Given the description of an element on the screen output the (x, y) to click on. 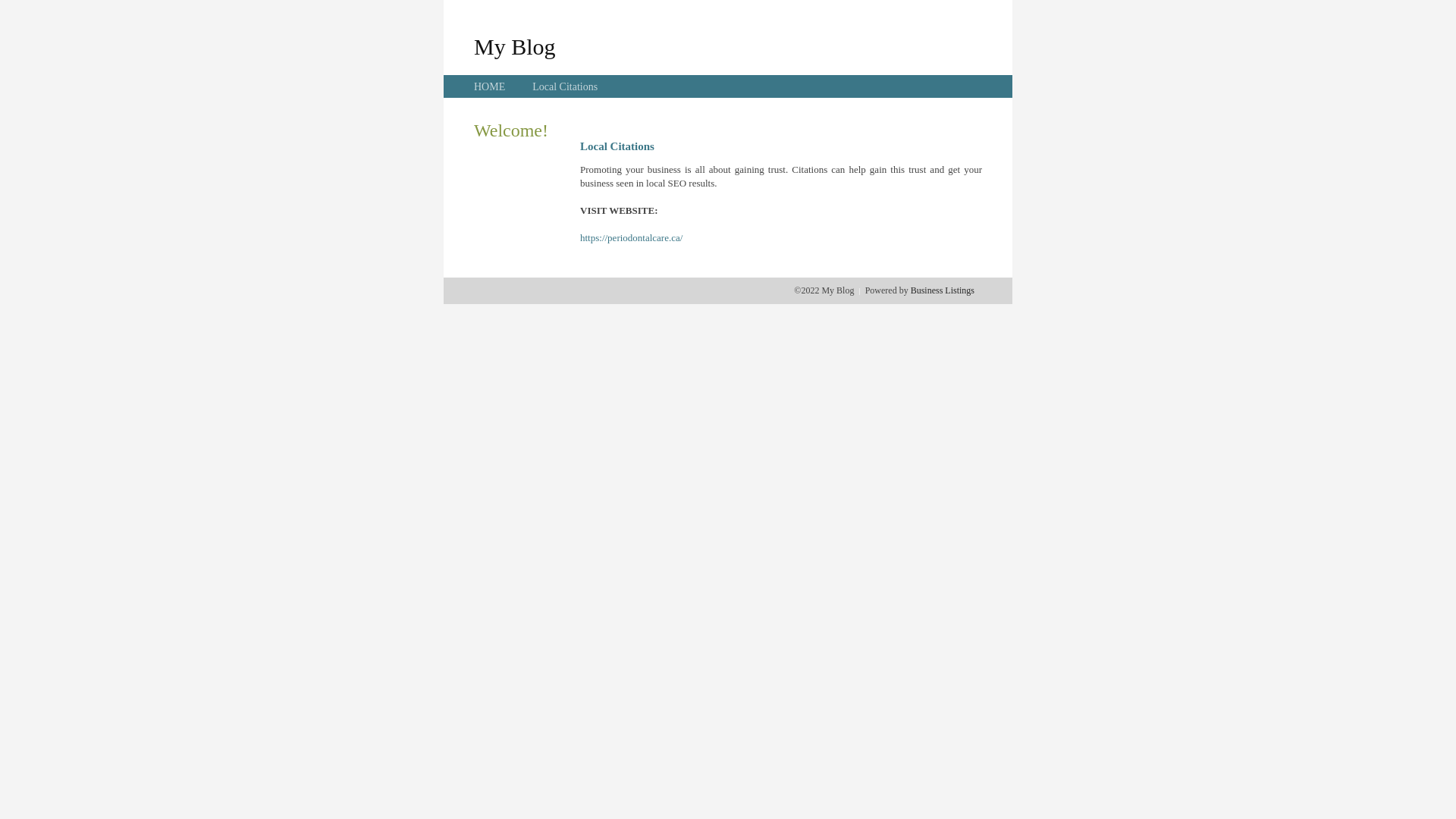
HOME Element type: text (489, 86)
https://periodontalcare.ca/ Element type: text (631, 237)
Local Citations Element type: text (564, 86)
Business Listings Element type: text (942, 290)
My Blog Element type: text (514, 46)
